Given the description of an element on the screen output the (x, y) to click on. 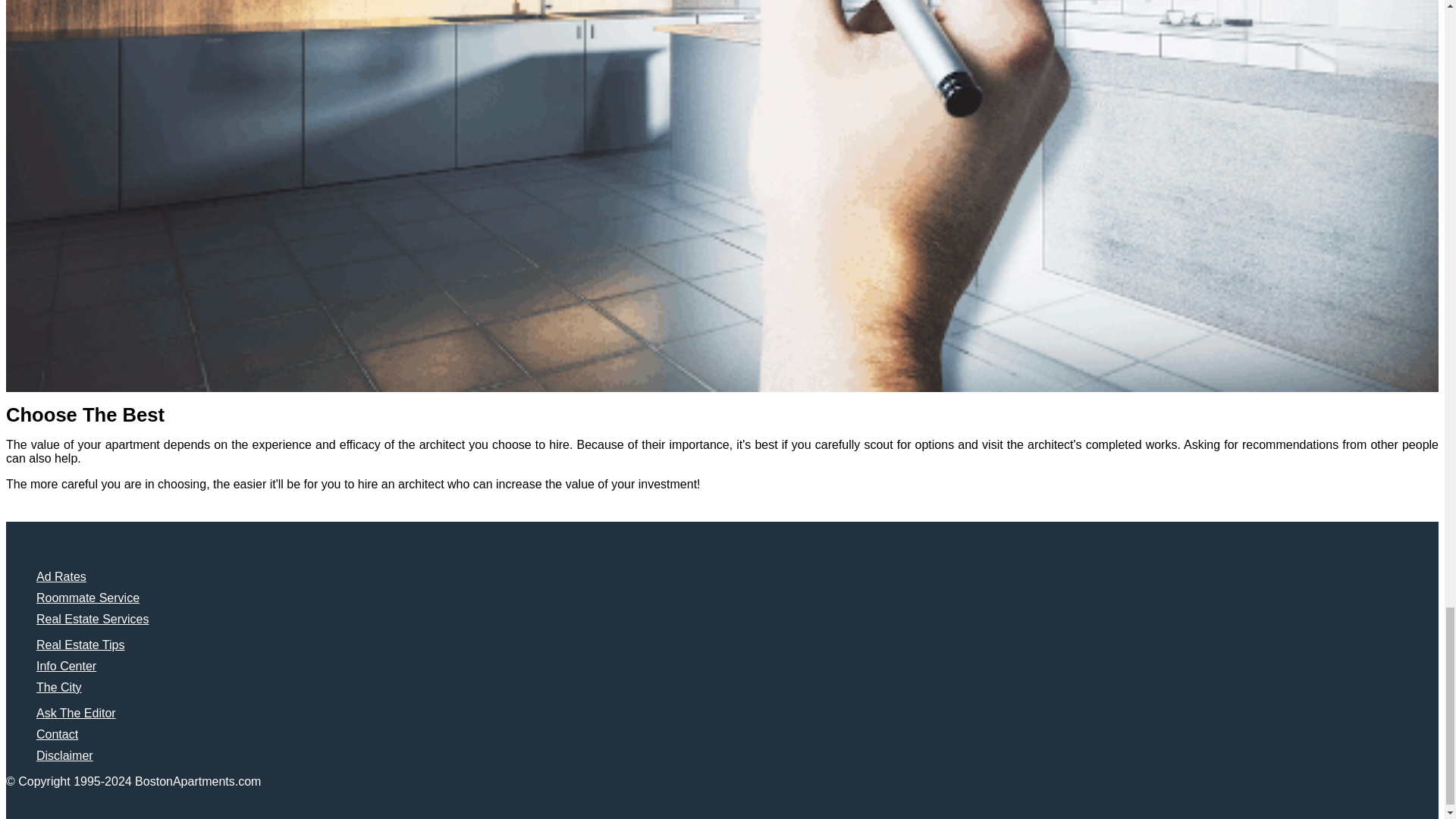
The City (58, 686)
Disclaimer (64, 755)
Contact (57, 734)
Roommate Service (87, 597)
Real Estate Services (92, 618)
Ask The Editor (76, 712)
Real Estate Tips (80, 644)
Info Center (66, 666)
Ad Rates (60, 576)
